Given the description of an element on the screen output the (x, y) to click on. 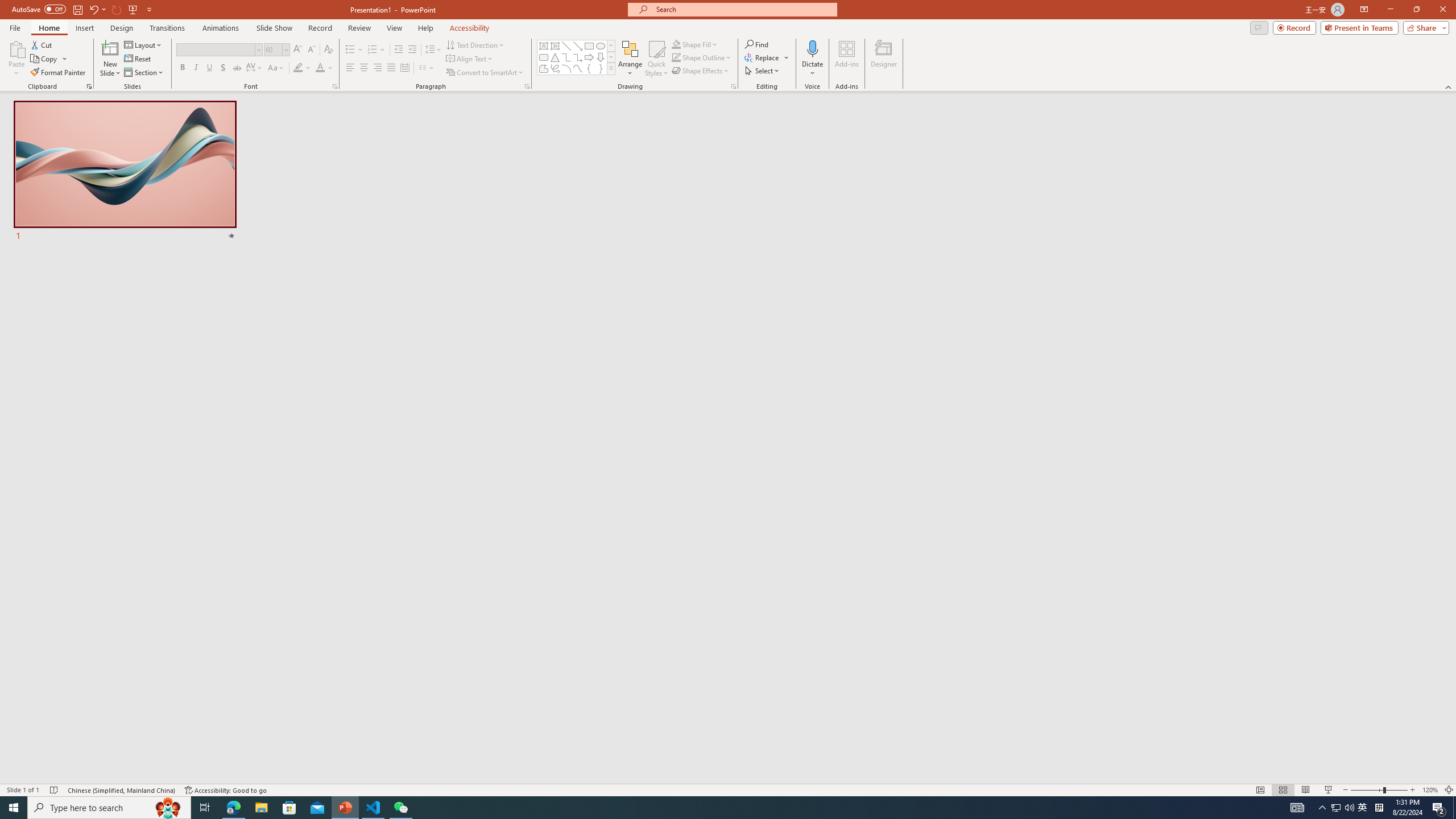
Zoom 120% (1430, 790)
